Given the description of an element on the screen output the (x, y) to click on. 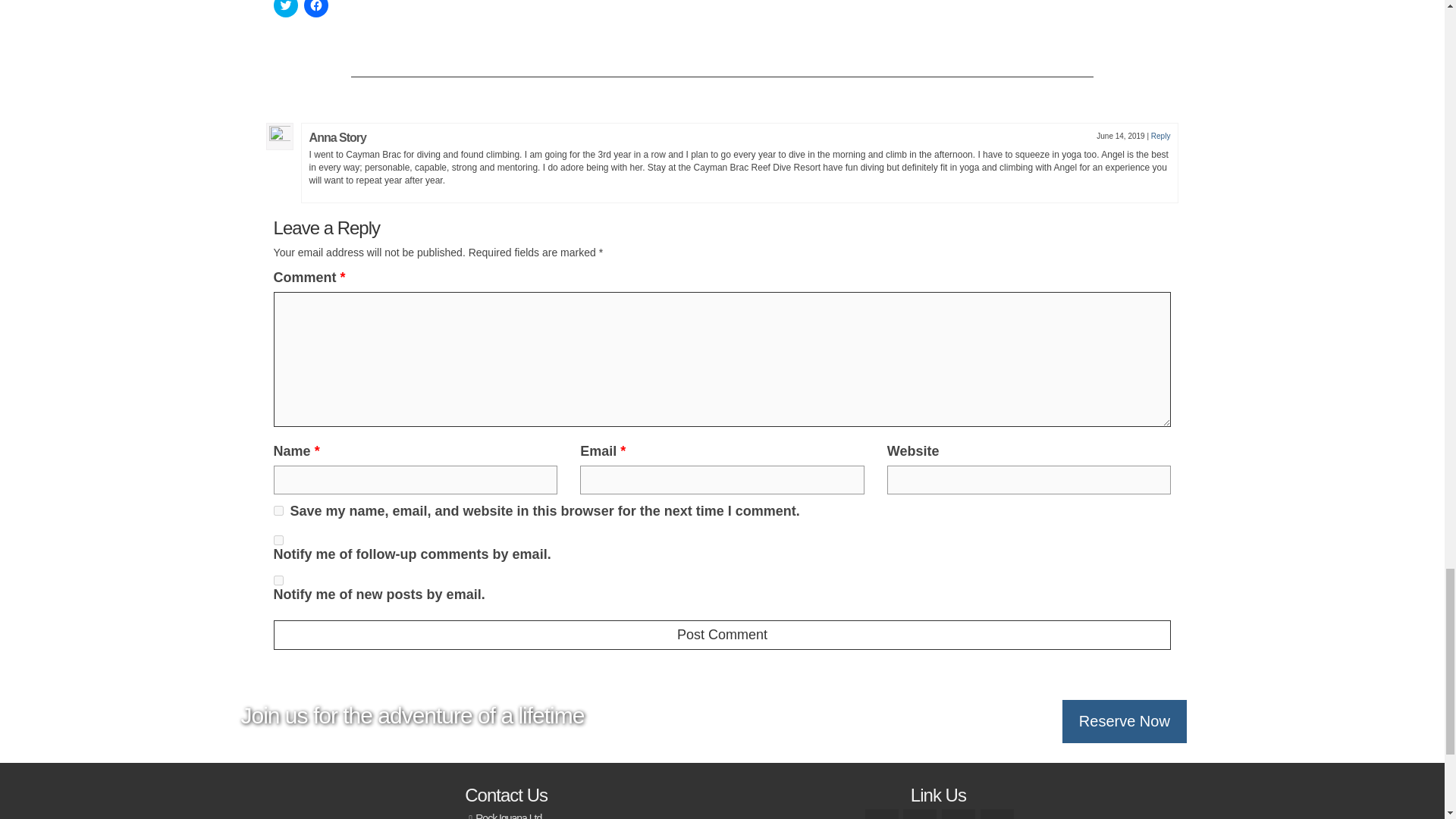
yes (278, 510)
Click to share on Facebook (316, 8)
subscribe (278, 580)
Post Comment (722, 634)
subscribe (278, 540)
Click to share on Twitter (285, 8)
